Given the description of an element on the screen output the (x, y) to click on. 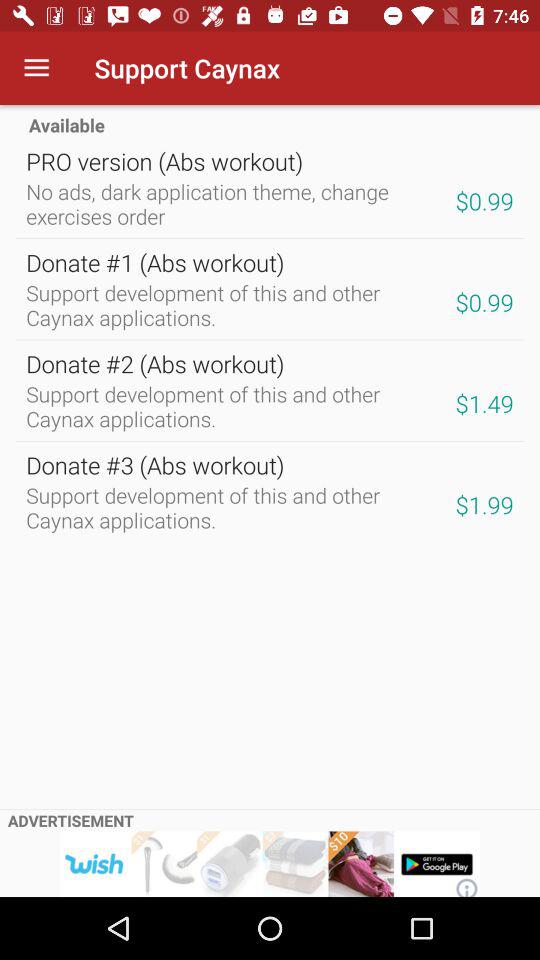
advertisement (270, 864)
